Given the description of an element on the screen output the (x, y) to click on. 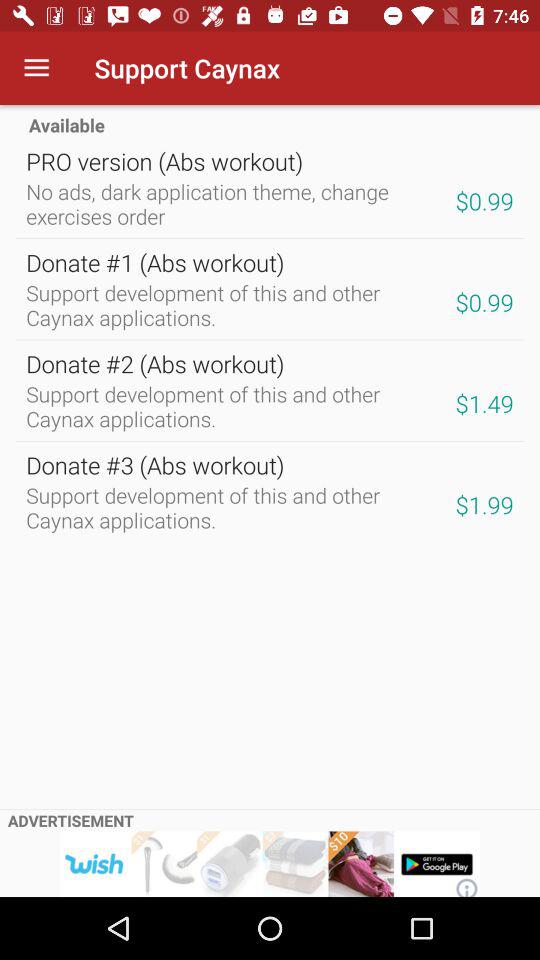
advertisement (270, 864)
